Given the description of an element on the screen output the (x, y) to click on. 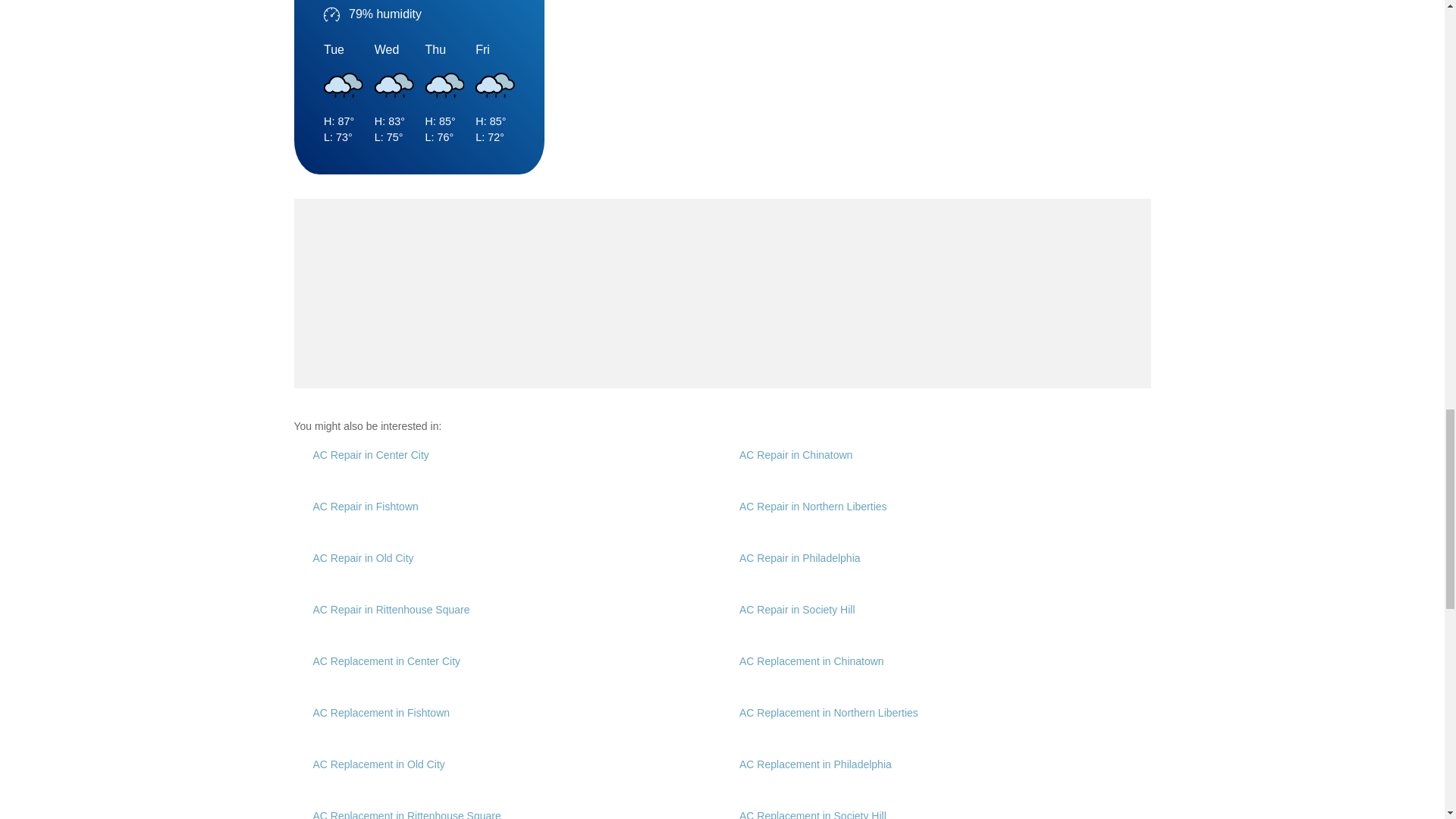
AC Repair in Center City (370, 454)
AC Repair in Chinatown (795, 454)
AC Repair in Center City (370, 454)
AC Repair in Fishtown (365, 506)
